Given the description of an element on the screen output the (x, y) to click on. 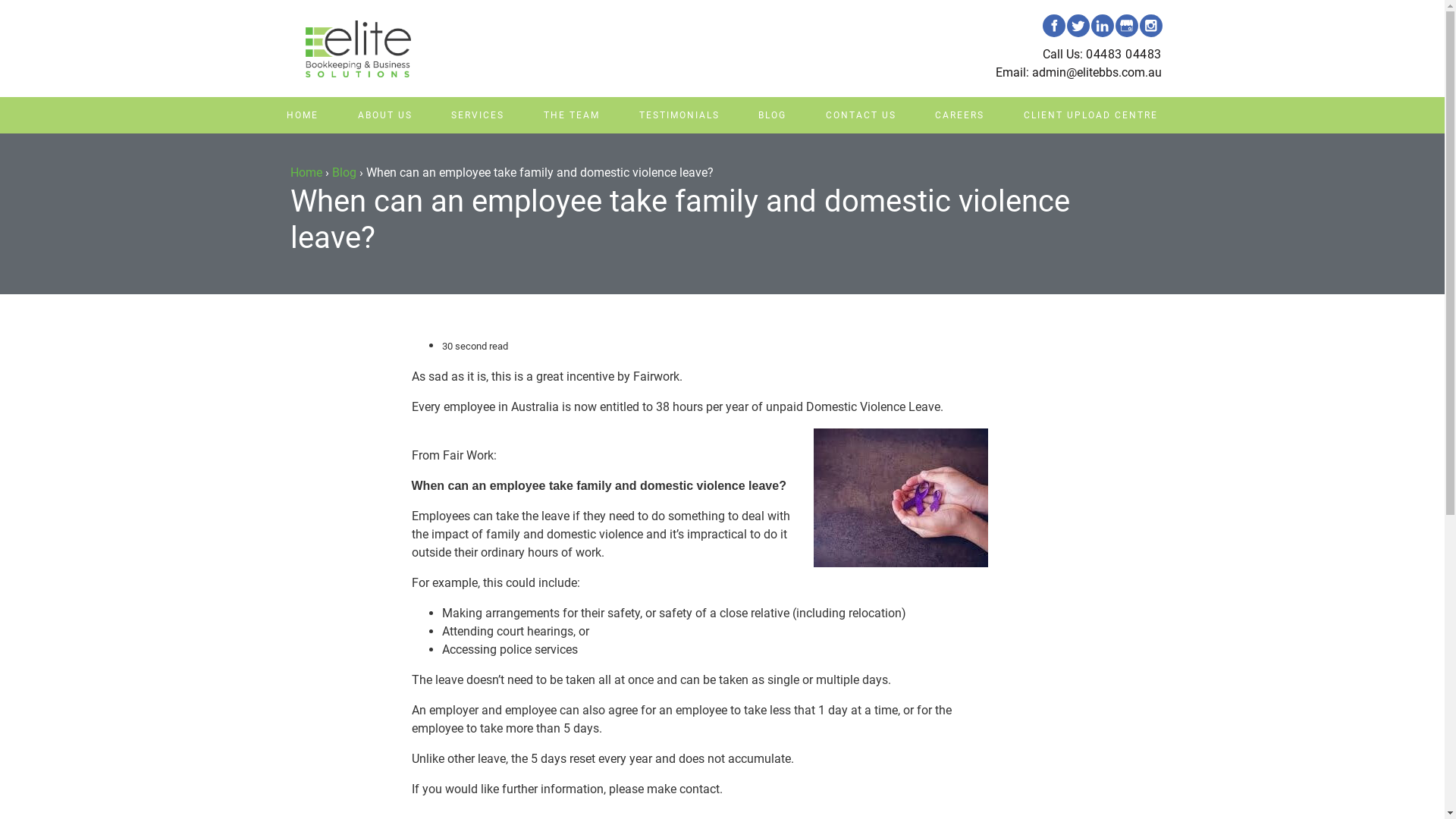
HOME Element type: text (302, 115)
THE TEAM Element type: text (571, 115)
Instagram Element type: hover (1150, 25)
CLIENT UPLOAD CENTRE Element type: text (1090, 115)
Home Element type: text (305, 172)
Google My Business Element type: hover (1125, 25)
Facebook Element type: hover (1052, 25)
ABOUT US Element type: text (385, 115)
CONTACT US Element type: text (861, 115)
CAREERS Element type: text (959, 115)
SERVICES Element type: text (478, 115)
LinkedIn Element type: hover (1101, 25)
Twitter Element type: hover (1077, 25)
TESTIMONIALS Element type: text (679, 115)
Blog Element type: text (344, 172)
04483 04483 Element type: text (1123, 54)
BLOG Element type: text (772, 115)
